Given the description of an element on the screen output the (x, y) to click on. 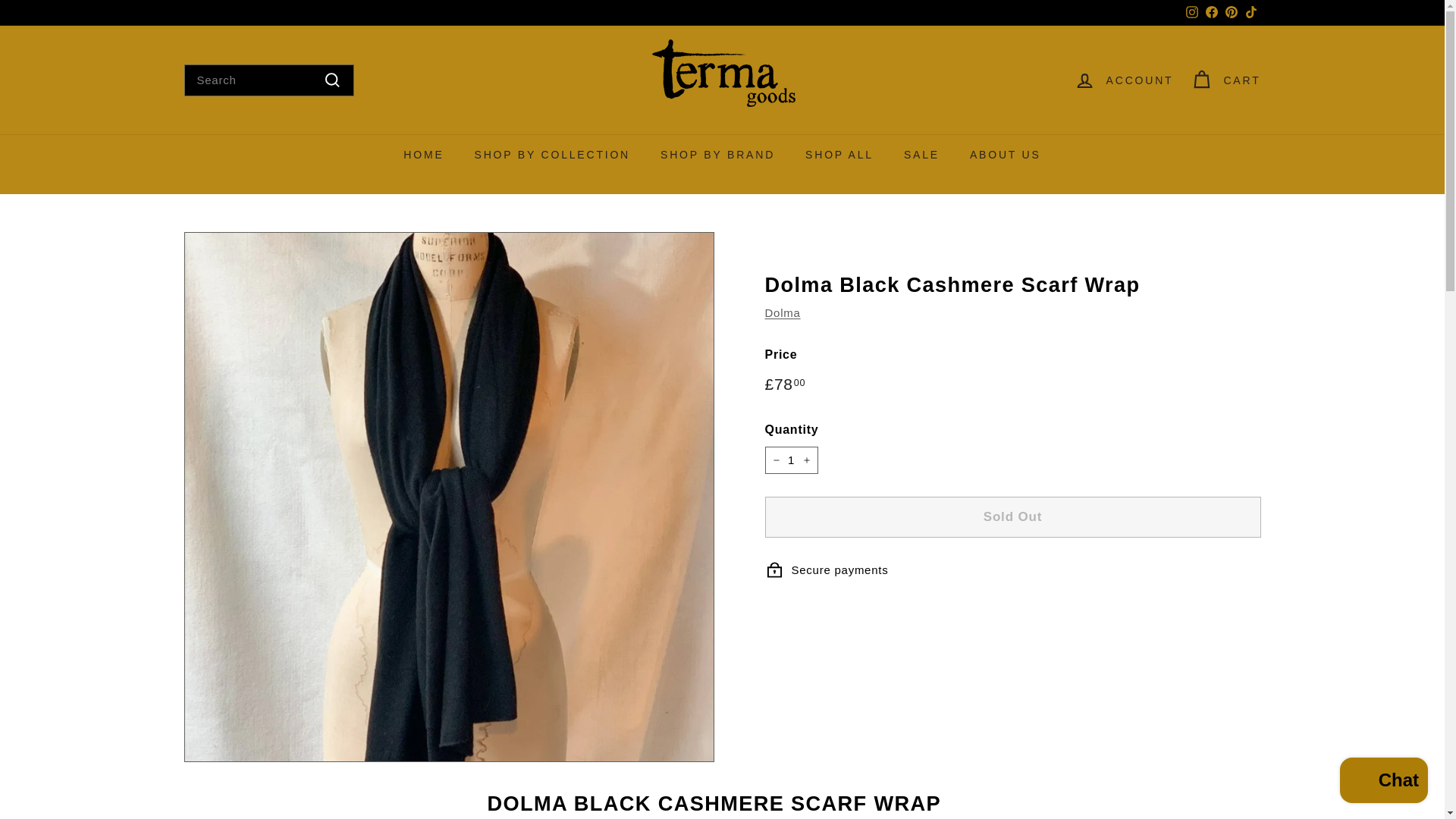
SALE (921, 154)
CART (1225, 79)
Shopify online store chat (1383, 781)
SHOP BY BRAND (717, 154)
Dolma (781, 312)
SHOP ALL (839, 154)
instagram (1192, 11)
1 (790, 460)
Dolma (781, 312)
ABOUT US (1006, 154)
